Given the description of an element on the screen output the (x, y) to click on. 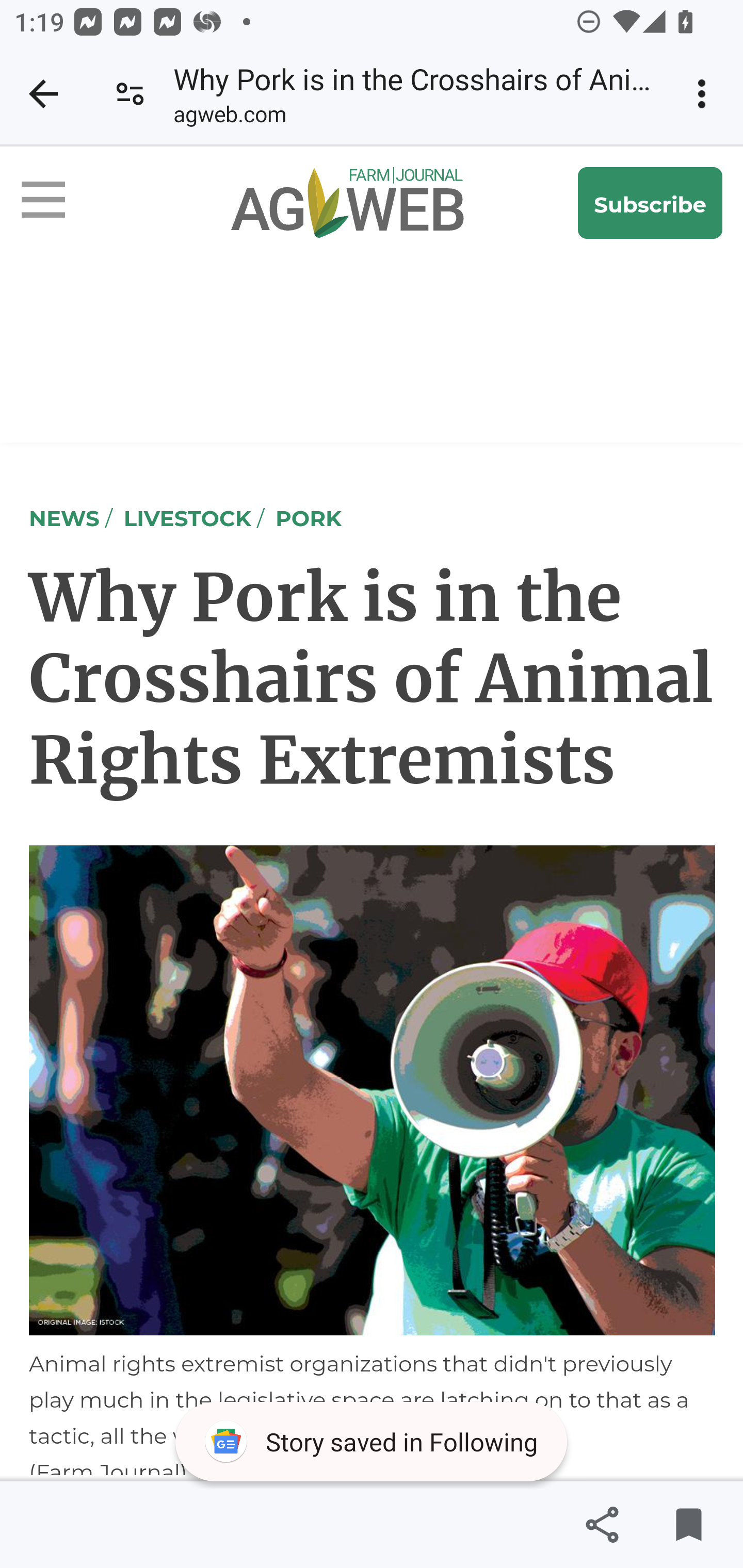
Close tab (43, 93)
Customize and control Google Chrome (705, 93)
Connection is secure (129, 93)
agweb.com (229, 117)
Navigation Toggle (59, 203)
agweb Logo (336, 203)
Subscribe (650, 202)
NEWS (64, 517)
LIVESTOCK (187, 517)
PORK (308, 517)
Share (601, 1524)
Remove from saved stories (688, 1524)
